Given the description of an element on the screen output the (x, y) to click on. 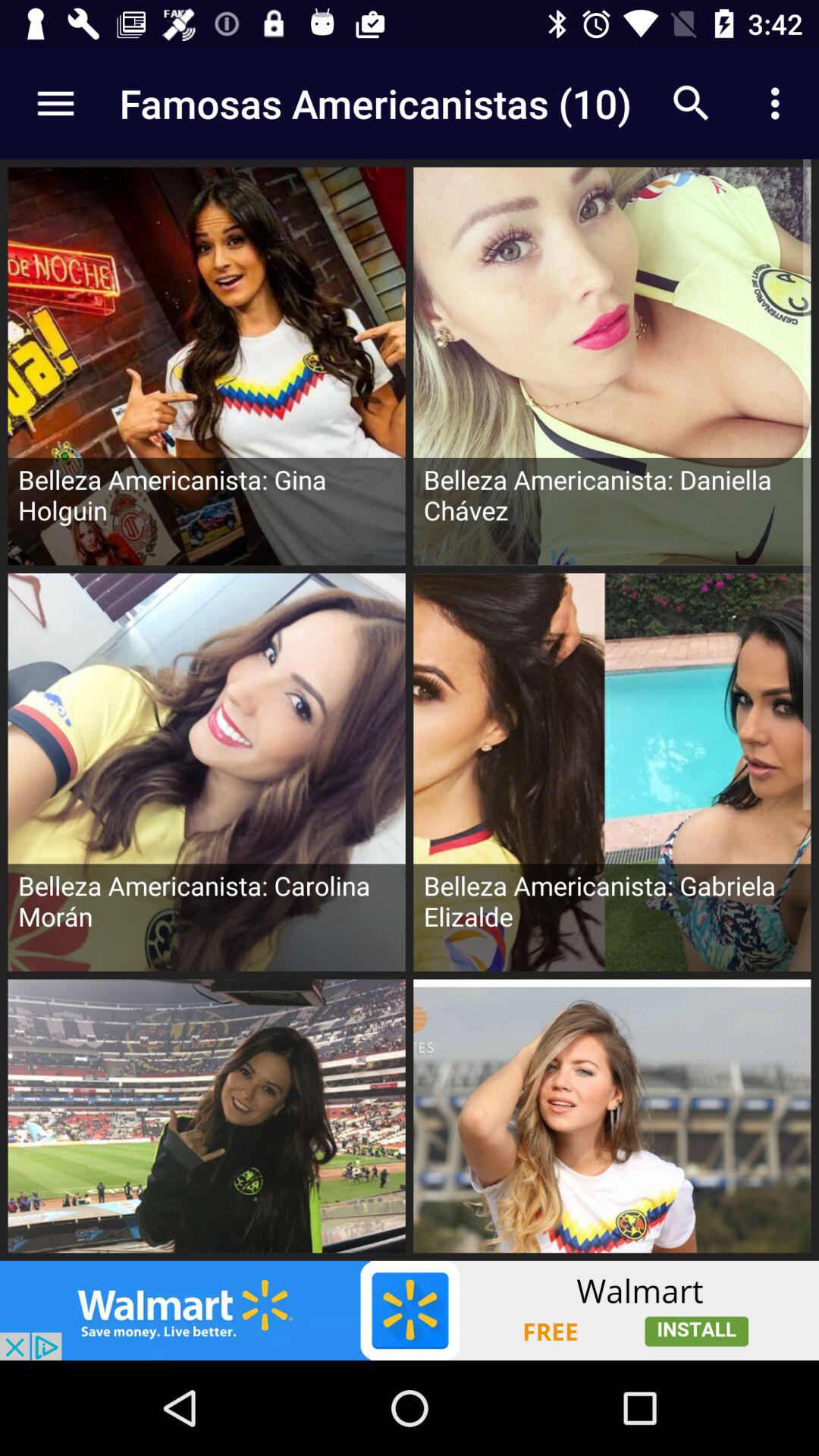
banner advertisement (409, 1310)
